Given the description of an element on the screen output the (x, y) to click on. 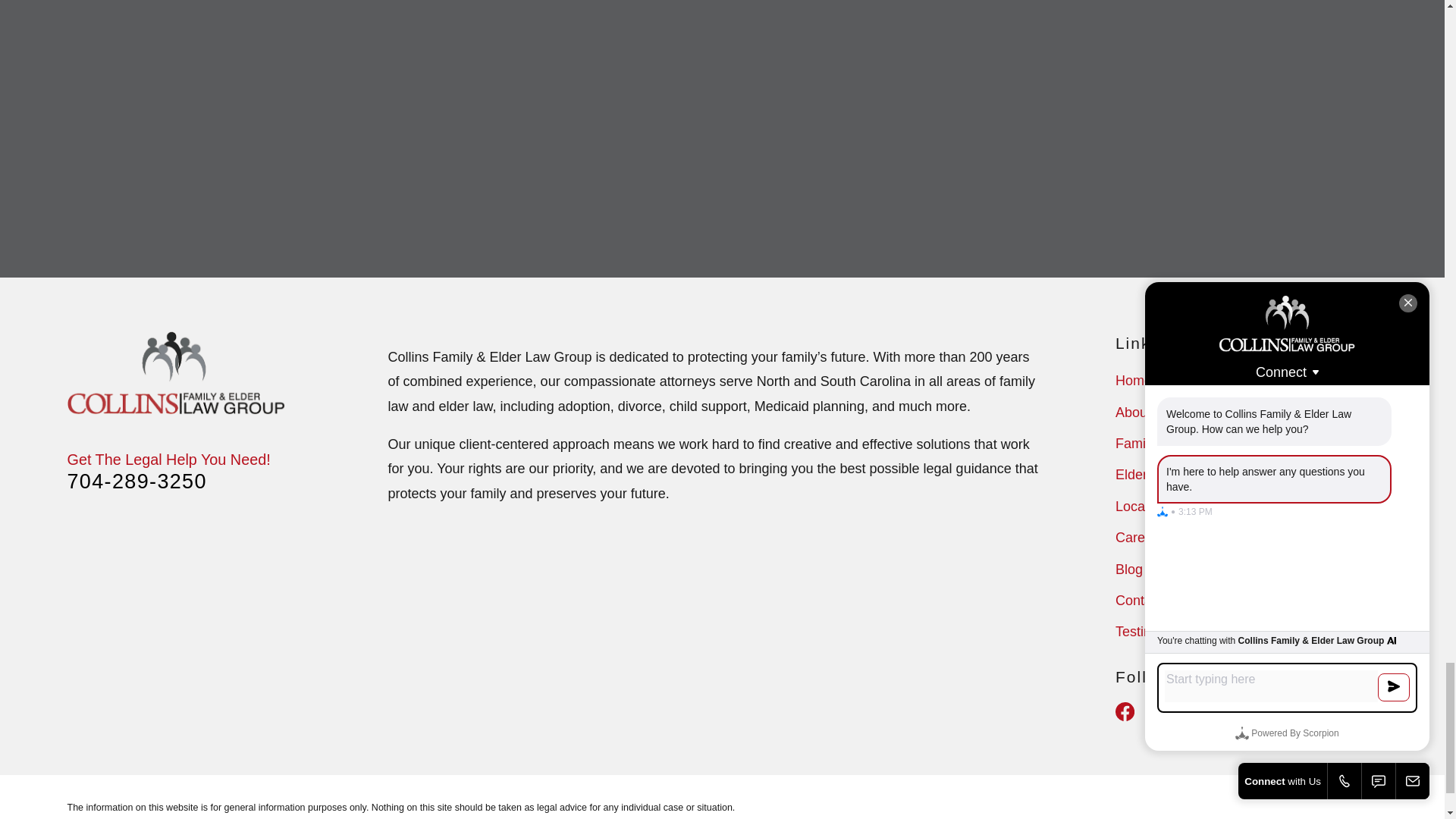
Home (175, 372)
Instagram (1163, 711)
Facebook (1124, 711)
LinkedIn (1202, 711)
